Given the description of an element on the screen output the (x, y) to click on. 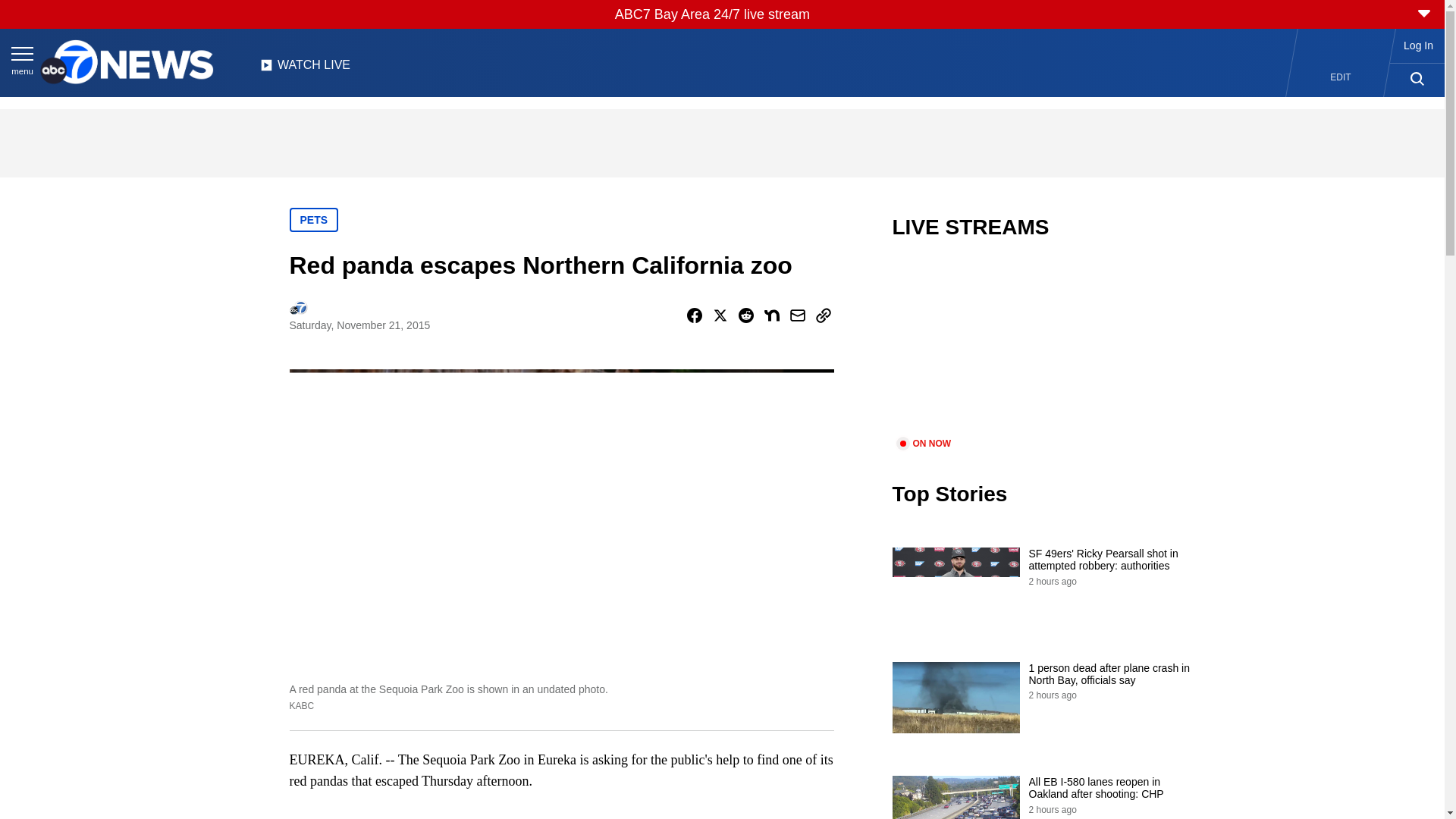
video.title (1043, 347)
EDIT (1340, 77)
WATCH LIVE (305, 69)
